Given the description of an element on the screen output the (x, y) to click on. 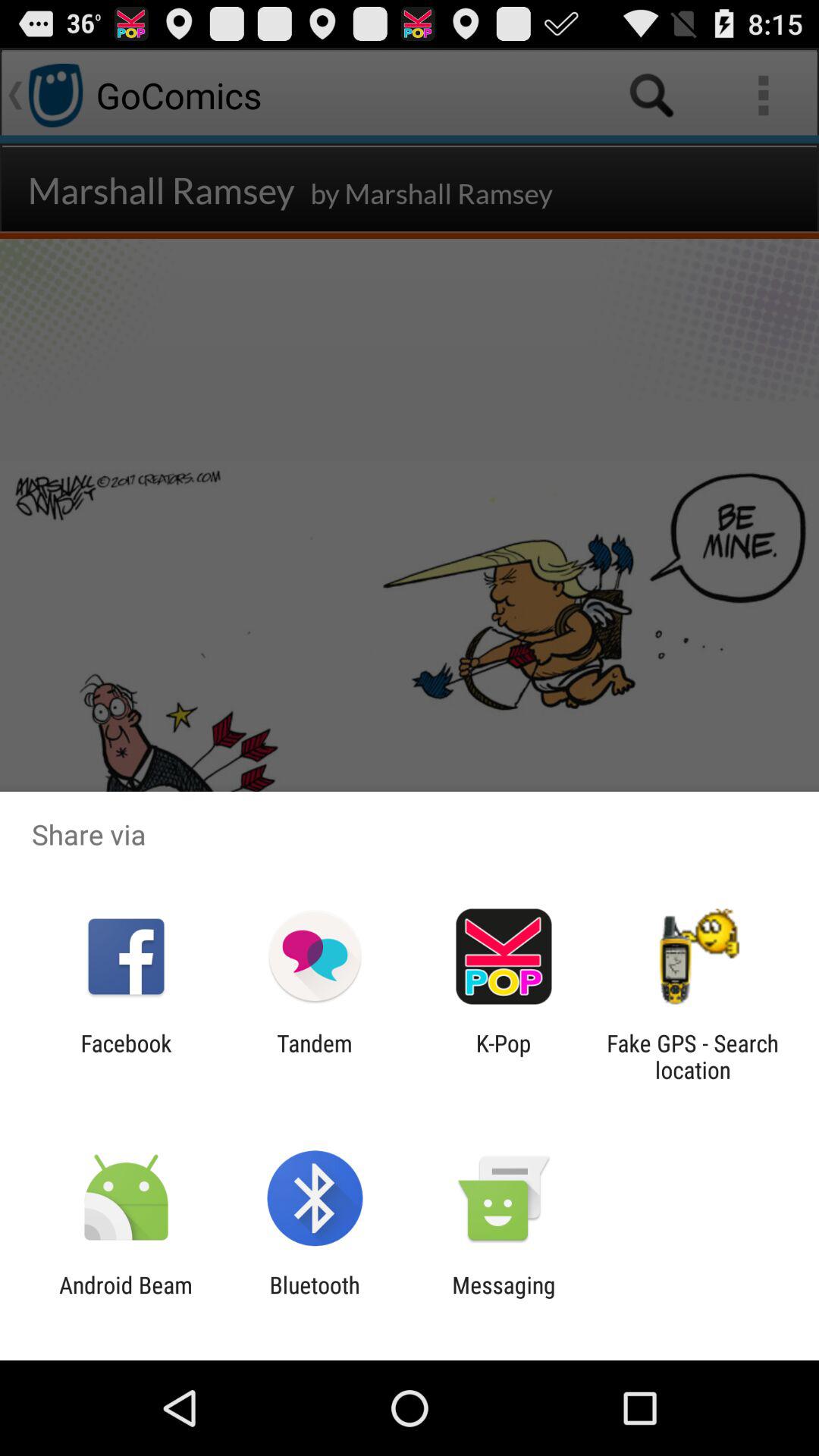
turn off icon to the right of the facebook app (314, 1056)
